Given the description of an element on the screen output the (x, y) to click on. 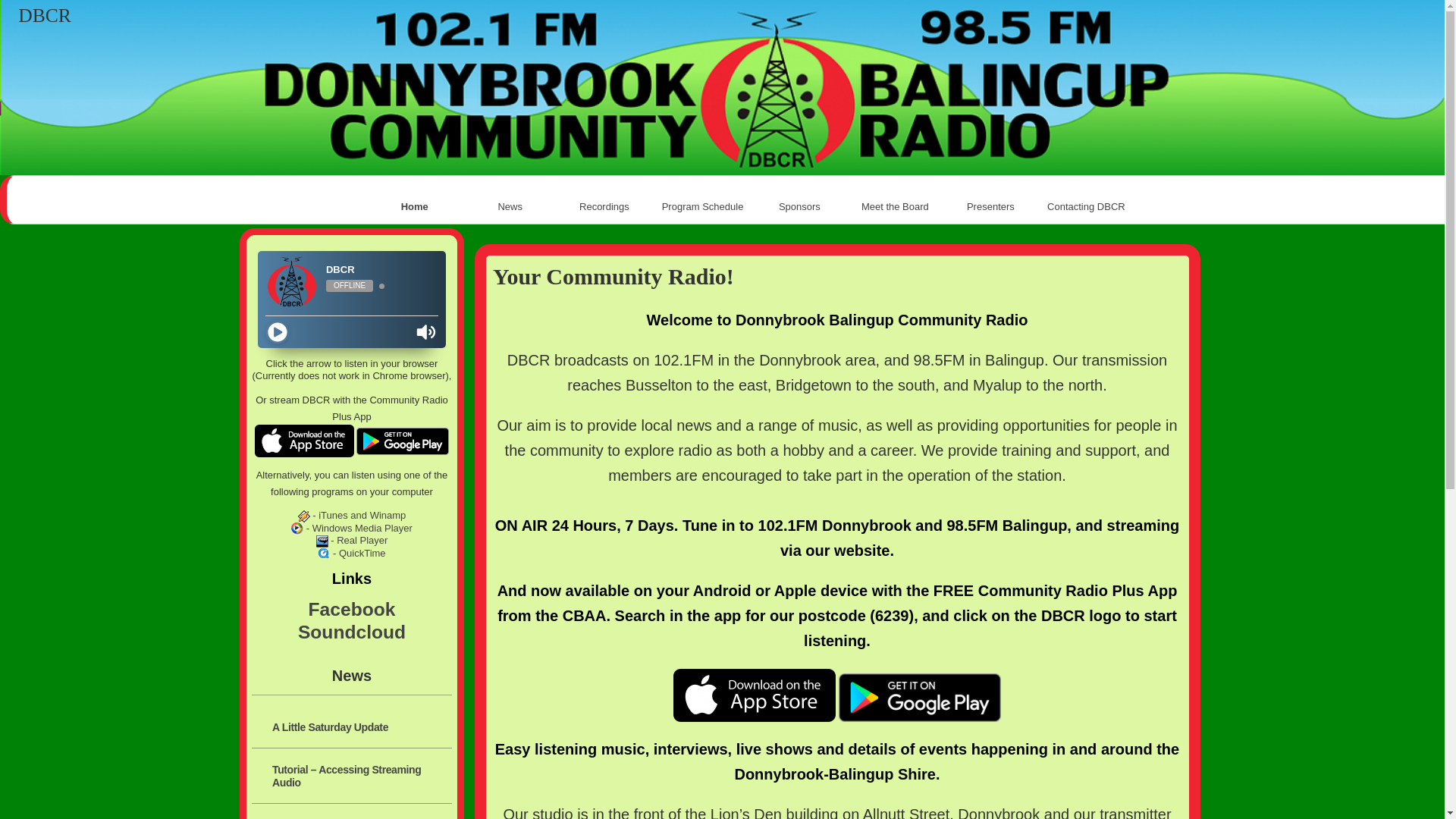
Windows Media Player Element type: hover (297, 528)
- Windows Media Player Element type: text (351, 527)
App Store Element type: hover (754, 694)
App Store Element type: hover (304, 440)
Play Element type: hover (277, 332)
Home Element type: text (414, 206)
Recordings  Element type: text (605, 206)
Contacting DBCR Element type: text (1085, 206)
- iTunes and Winamp Element type: text (352, 514)
Google Play Element type: hover (402, 441)
Real Player Element type: hover (322, 541)
Soundcloud Element type: text (351, 631)
Sponsors Element type: text (798, 206)
A Little Saturday Update Element type: text (358, 724)
News Element type: text (510, 206)
DBCR Element type: text (44, 15)
Presenters Element type: text (990, 206)
- Real Player Element type: text (352, 540)
Program Schedule Element type: text (702, 206)
- QuickTime Element type: text (351, 552)
Winamp, iTunes Element type: hover (304, 516)
Meet the Board Element type: text (894, 206)
Facebook Element type: text (351, 609)
Google Play Element type: hover (919, 697)
QuickTime Element type: hover (323, 553)
